Given the description of an element on the screen output the (x, y) to click on. 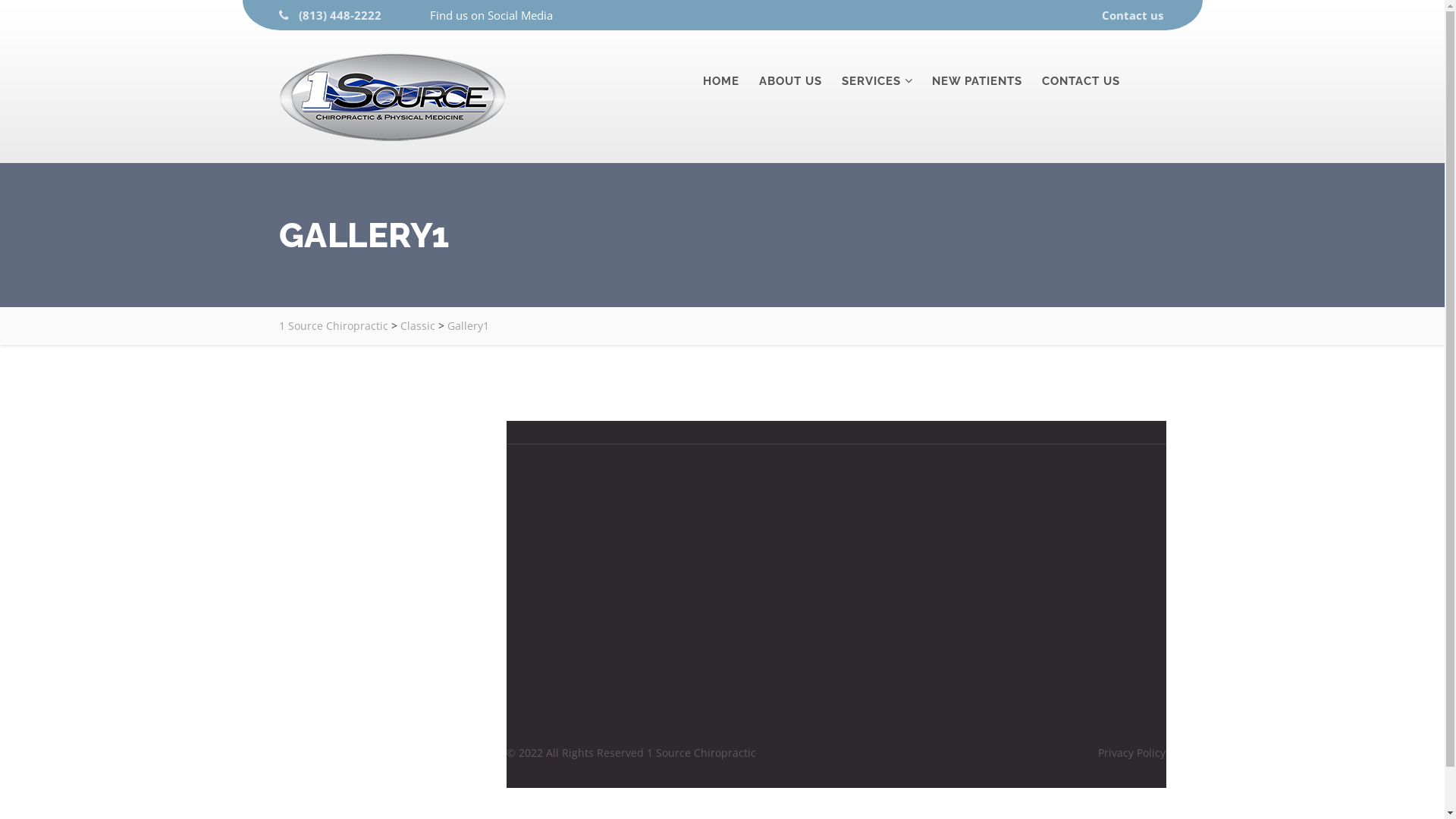
CONTACT US Element type: text (1080, 80)
Classic Element type: text (417, 325)
(813) 448-2222 Element type: text (339, 14)
1 Source Chiropractic Element type: text (333, 325)
SERVICES Element type: text (870, 80)
NEW PATIENTS Element type: text (976, 80)
HOME Element type: text (720, 80)
ABOUT US Element type: text (789, 80)
Contact us  Element type: text (1133, 14)
Privacy Policy Element type: text (1131, 752)
